Given the description of an element on the screen output the (x, y) to click on. 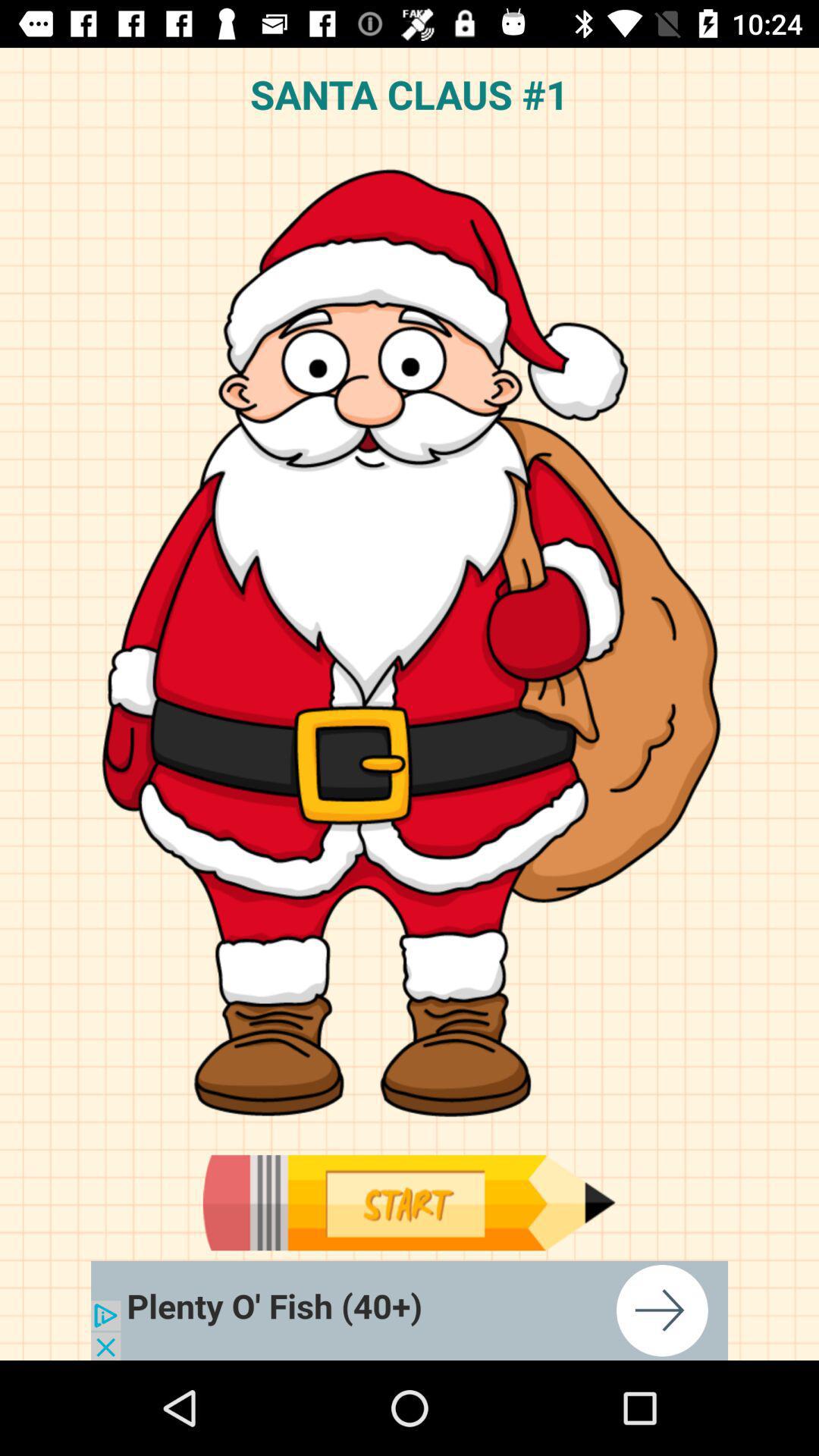
start game button (409, 1202)
